Given the description of an element on the screen output the (x, y) to click on. 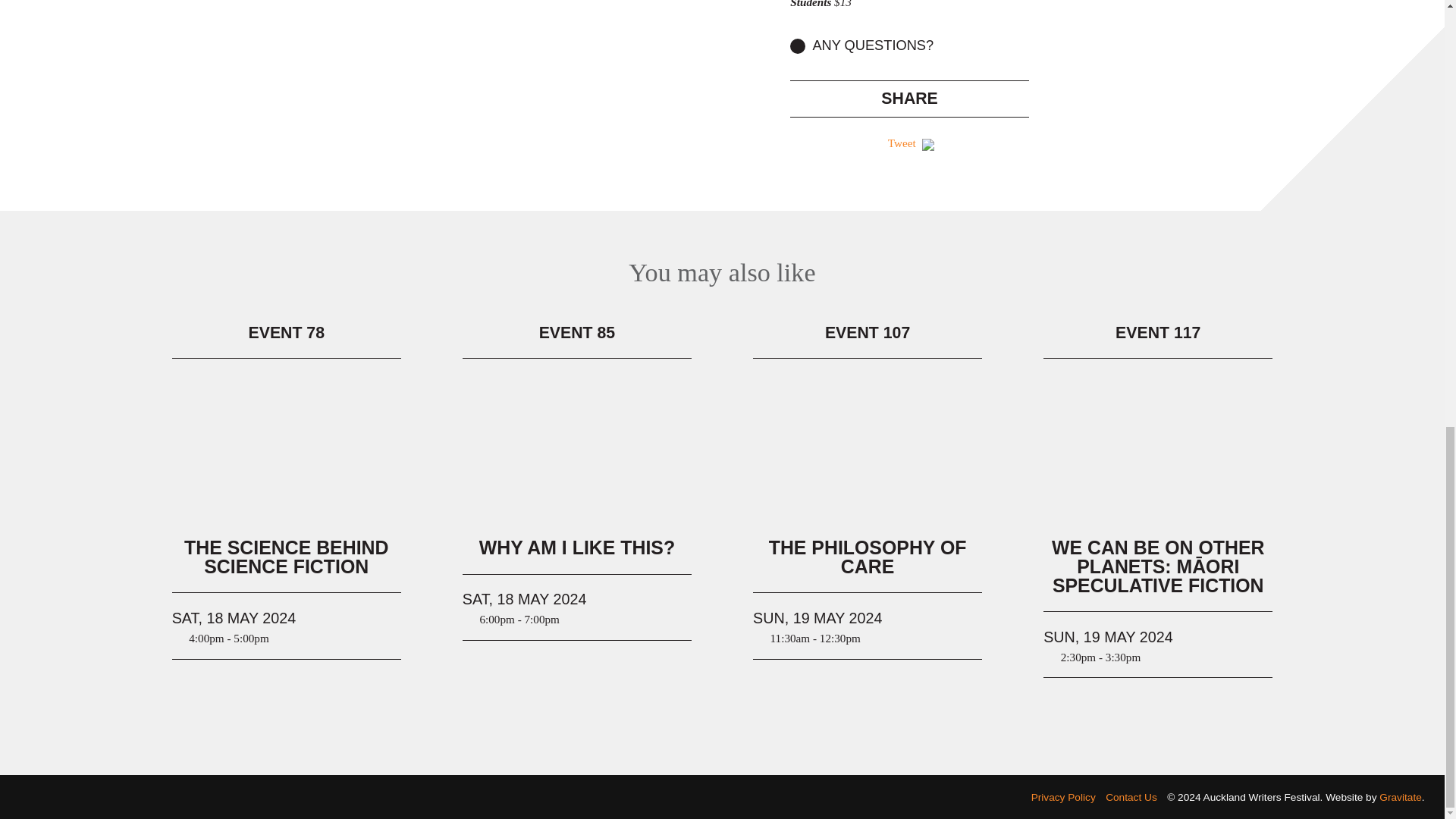
Gravitate (1399, 797)
ANY QUESTIONS? (909, 45)
Tweet (901, 142)
Privacy Policy (1063, 797)
Contact Us (1131, 797)
Instagram (1009, 798)
Twitter (973, 798)
